Given the description of an element on the screen output the (x, y) to click on. 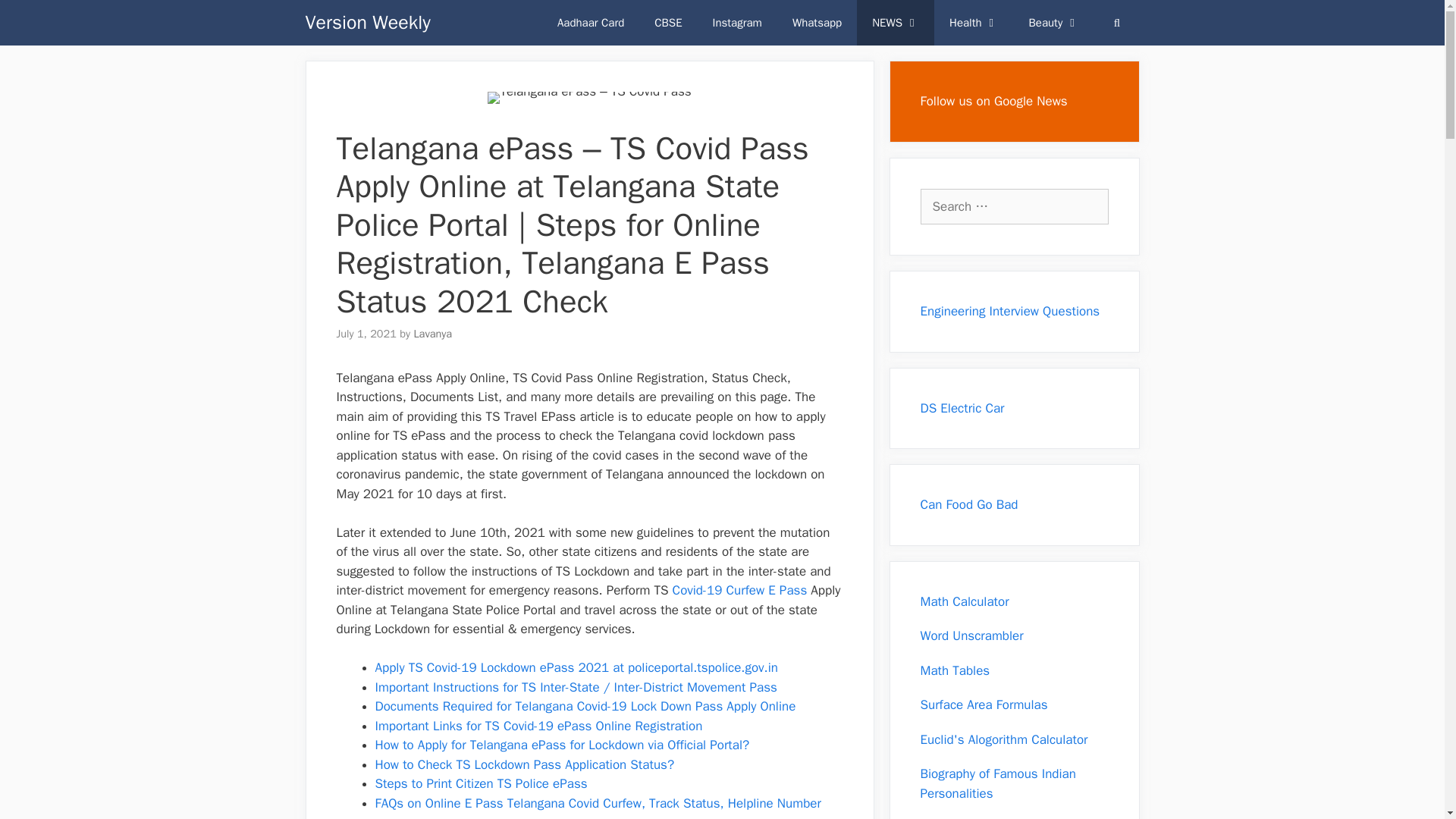
Important Links for TS Covid-19 ePass Online Registration (537, 725)
Health (973, 22)
Lavanya (432, 333)
Instagram (737, 22)
NEWS (895, 22)
CBSE (668, 22)
View all posts by Lavanya (432, 333)
How to Check TS Lockdown Pass Application Status? (524, 764)
Steps to Print Citizen TS Police ePass (480, 783)
Search for: (1014, 206)
Covid-19 Curfew E Pass (740, 590)
Version Weekly (366, 22)
Beauty (1053, 22)
